Given the description of an element on the screen output the (x, y) to click on. 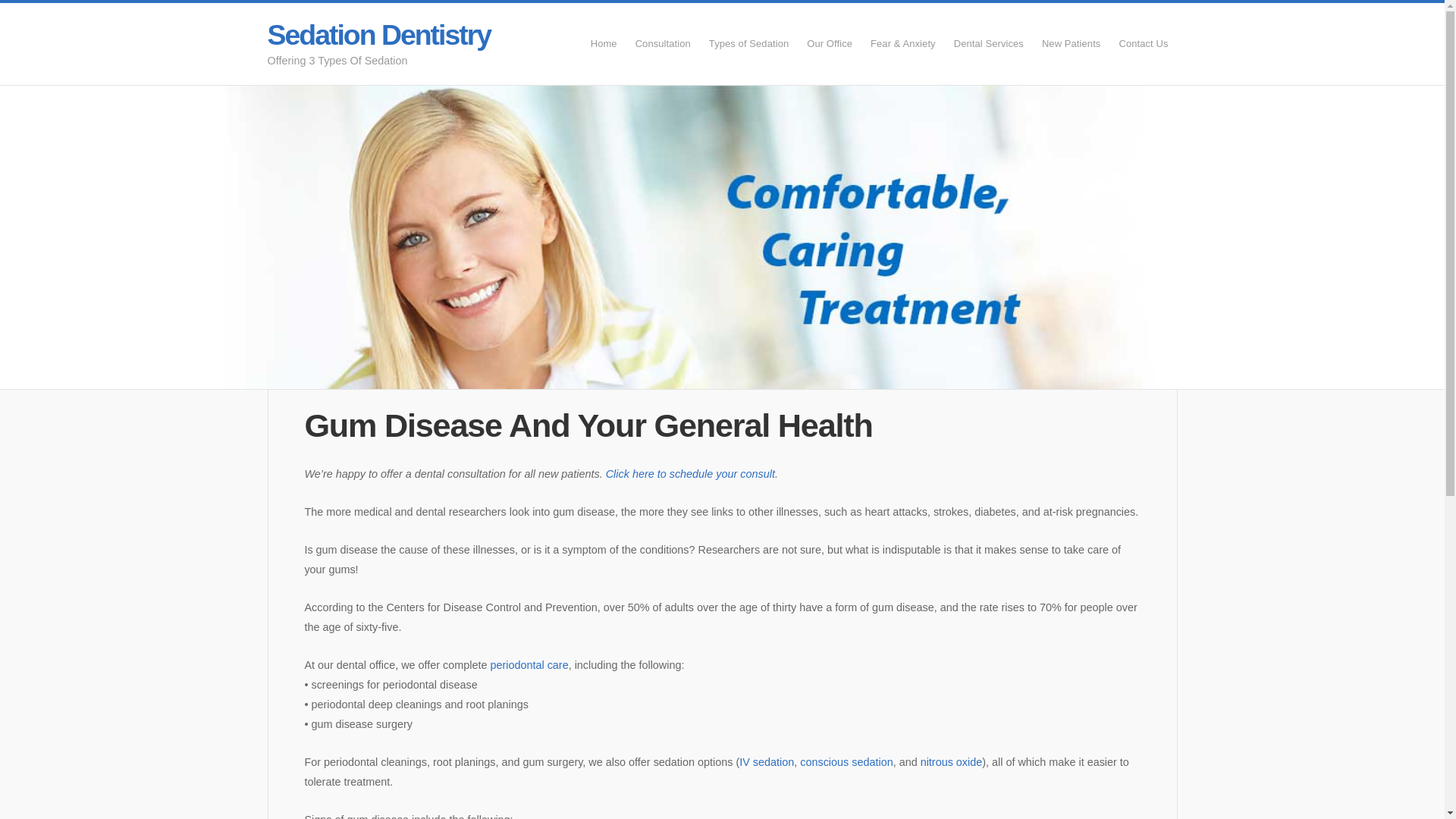
Home (603, 43)
Our Office (829, 43)
Consultation (663, 43)
Types of Sedation (748, 43)
Dental Services (988, 43)
Sedation Dentistry (378, 34)
Sedation Dentistry (378, 34)
